Given the description of an element on the screen output the (x, y) to click on. 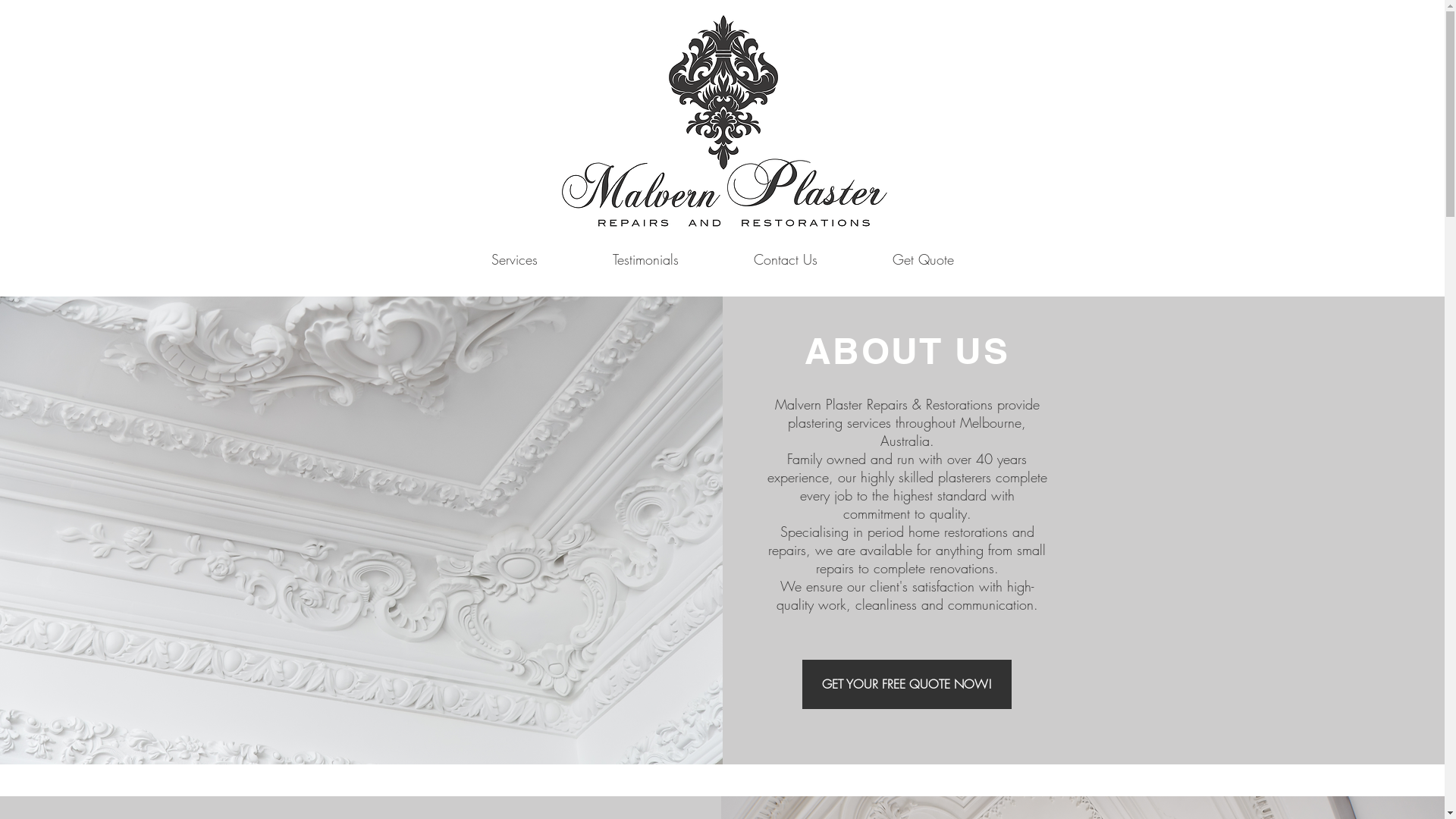
Contact Us Element type: text (784, 259)
Get Quote Element type: text (923, 259)
Services Element type: text (513, 259)
GET YOUR FREE QUOTE NOW! Element type: text (906, 684)
Testimonials Element type: text (644, 259)
